Given the description of an element on the screen output the (x, y) to click on. 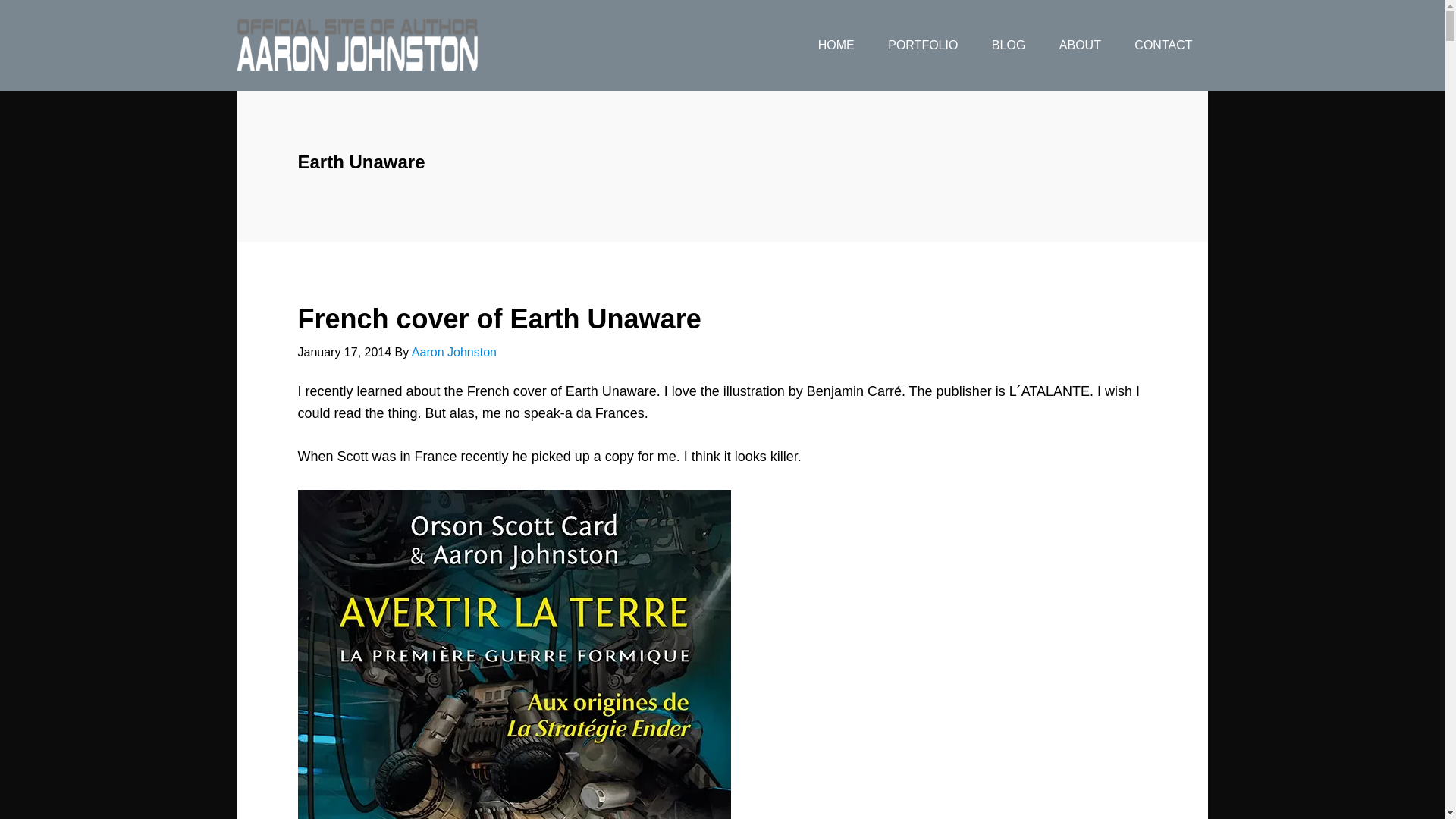
Aaron Johnston (454, 351)
PORTFOLIO (922, 45)
CONTACT (1163, 45)
French cover of Earth Unaware (498, 318)
